Given the description of an element on the screen output the (x, y) to click on. 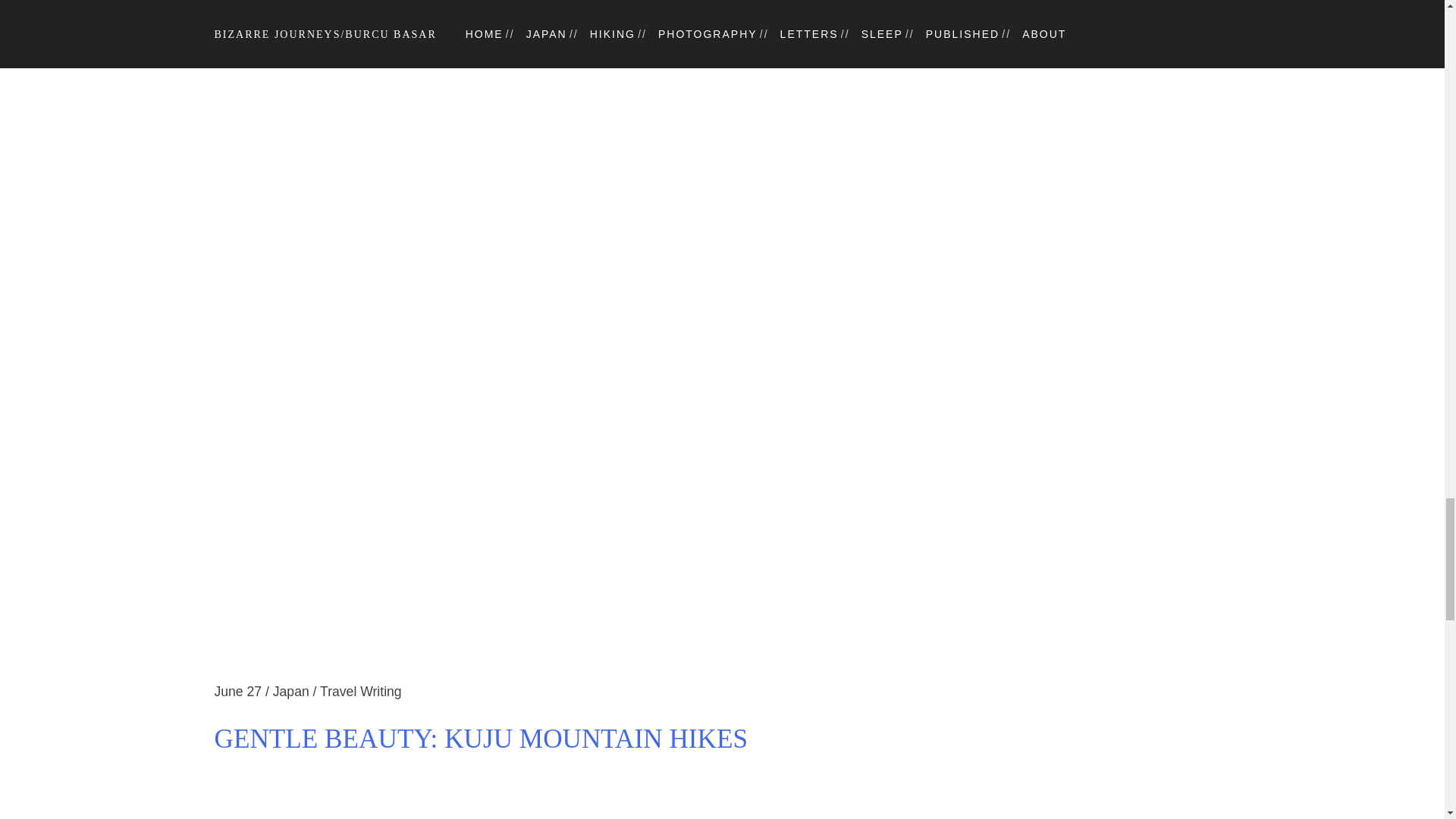
Gentle Beauty: Kuju Mountain Hikes (722, 671)
Gentle Beauty: Kuju Mountain Hikes (722, 739)
GENTLE BEAUTY: KUJU MOUNTAIN HIKES (722, 739)
